Given the description of an element on the screen output the (x, y) to click on. 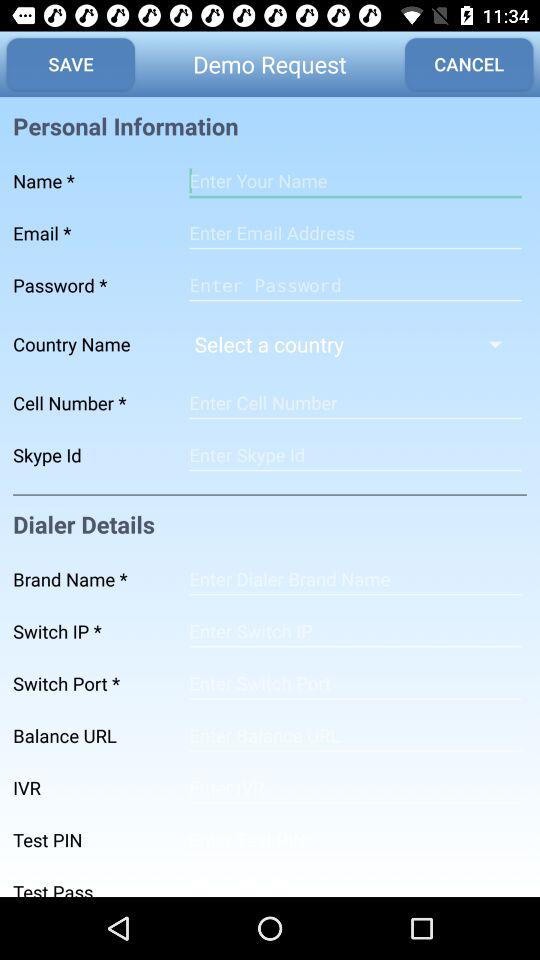
screen page (355, 403)
